Given the description of an element on the screen output the (x, y) to click on. 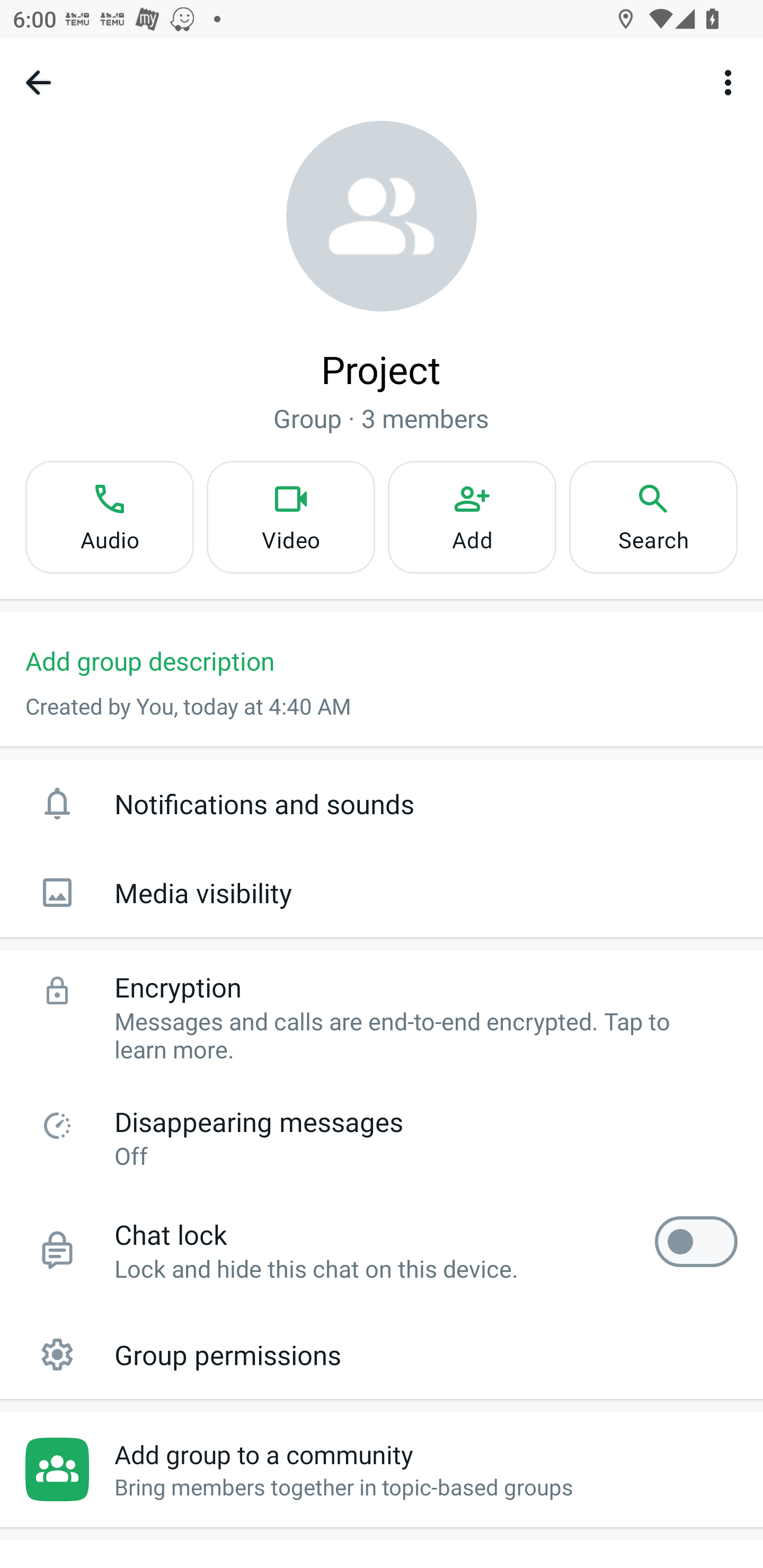
Navigate up (38, 82)
More options (731, 81)
Profile photo (381, 216)
Audio (109, 516)
Video (290, 516)
Add (471, 516)
Search (653, 516)
Notifications and sounds (381, 803)
Media visibility (381, 892)
Disappearing messages Off (381, 1137)
Group permissions (381, 1353)
